Given the description of an element on the screen output the (x, y) to click on. 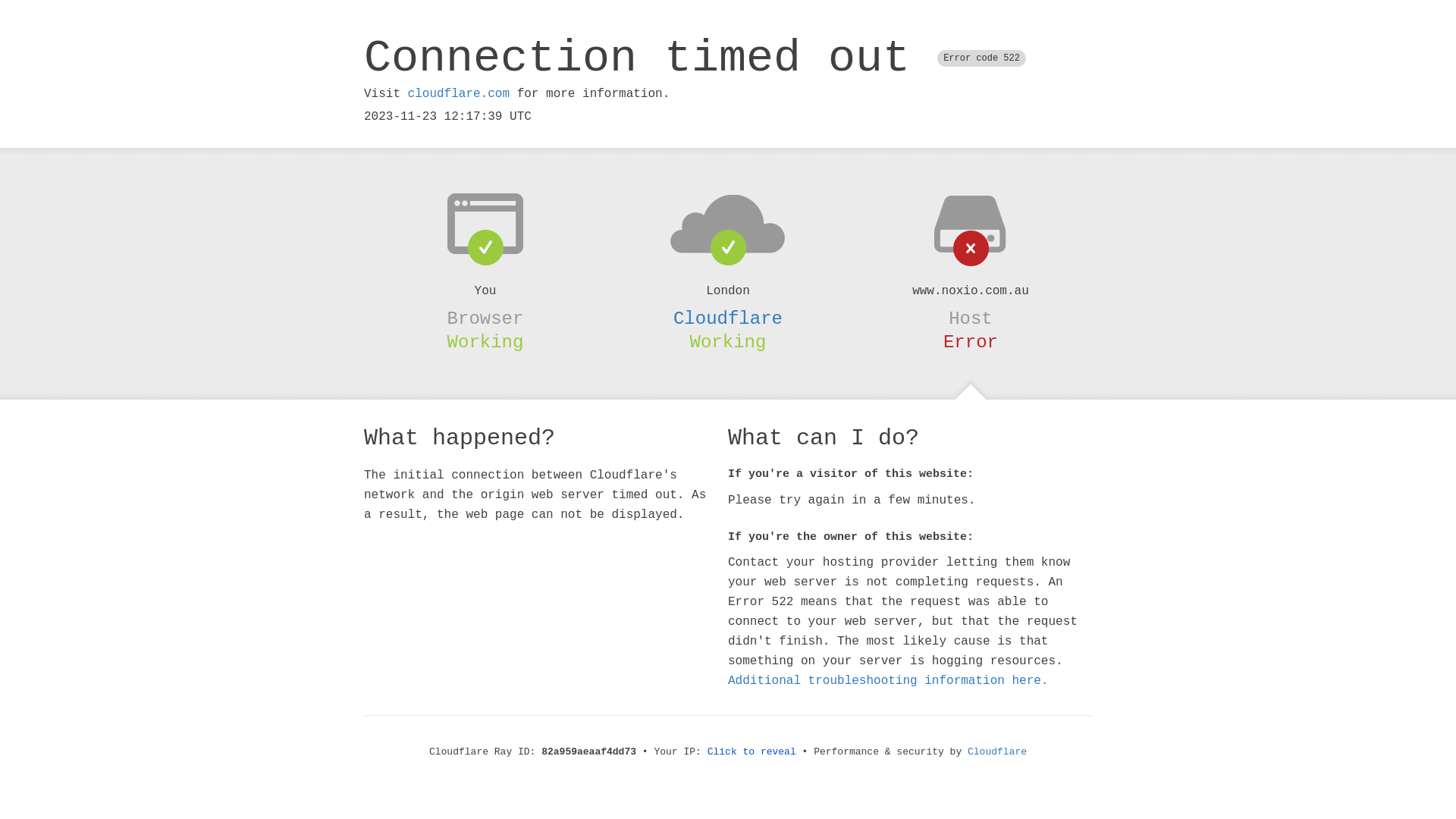
Additional troubleshooting information here. Element type: text (888, 680)
cloudflare.com Element type: text (458, 93)
Cloudflare Element type: text (727, 318)
Cloudflare Element type: text (996, 751)
Click to reveal Element type: text (751, 751)
